Given the description of an element on the screen output the (x, y) to click on. 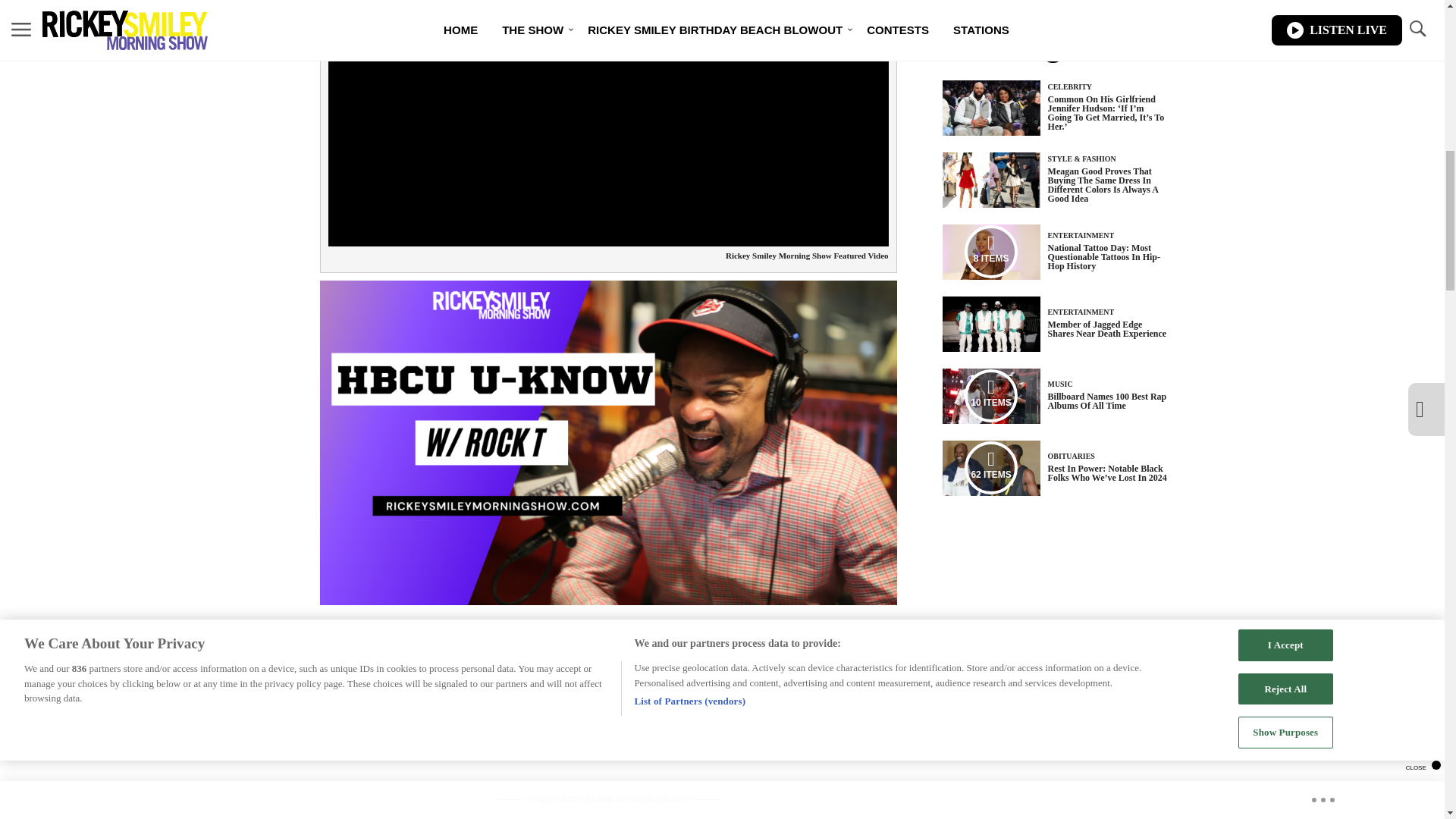
Media Playlist (990, 395)
Media Playlist (990, 251)
Media Playlist (990, 467)
3rd party ad content (607, 814)
